Given the description of an element on the screen output the (x, y) to click on. 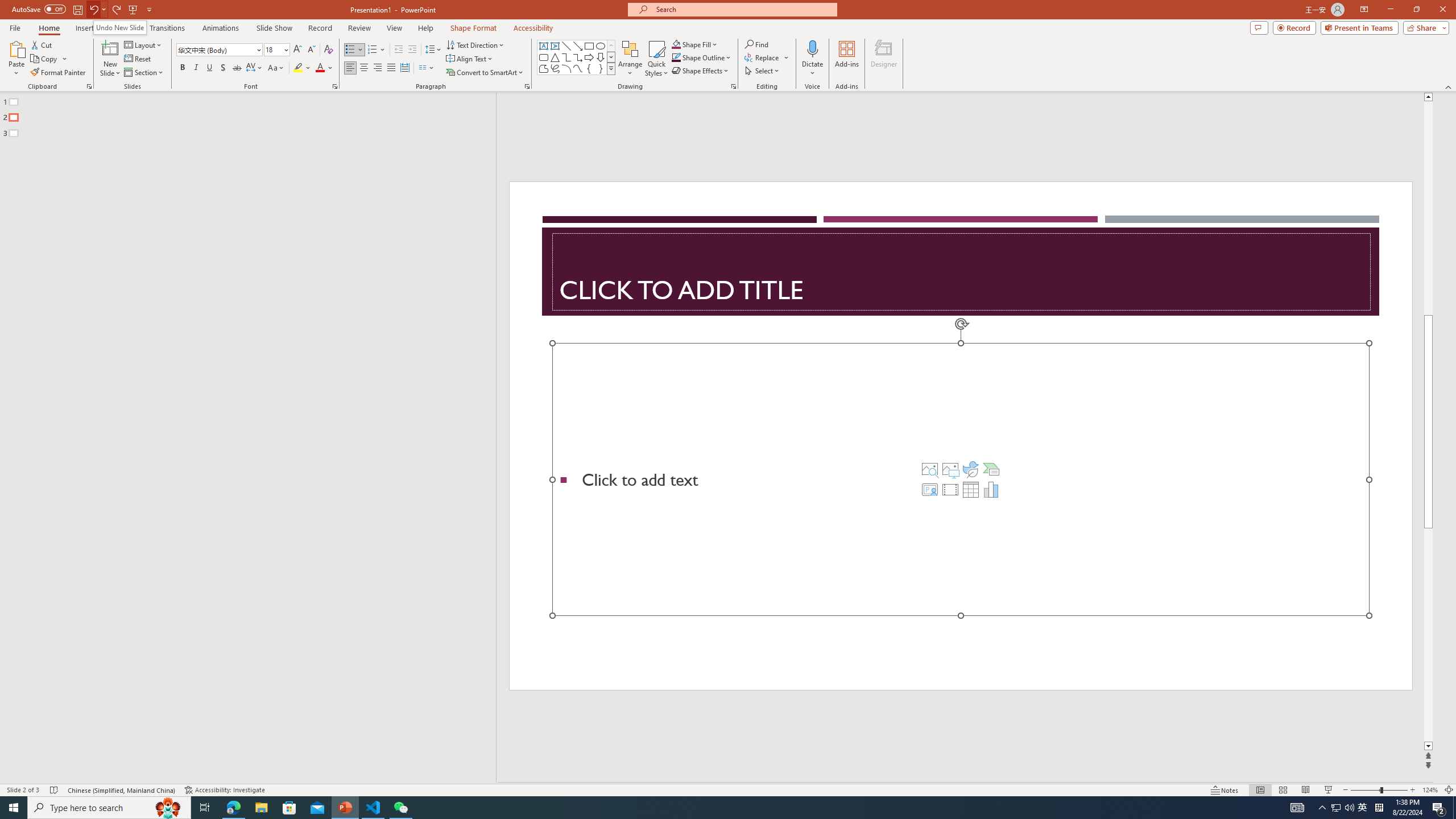
Insert Table (970, 489)
